Given the description of an element on the screen output the (x, y) to click on. 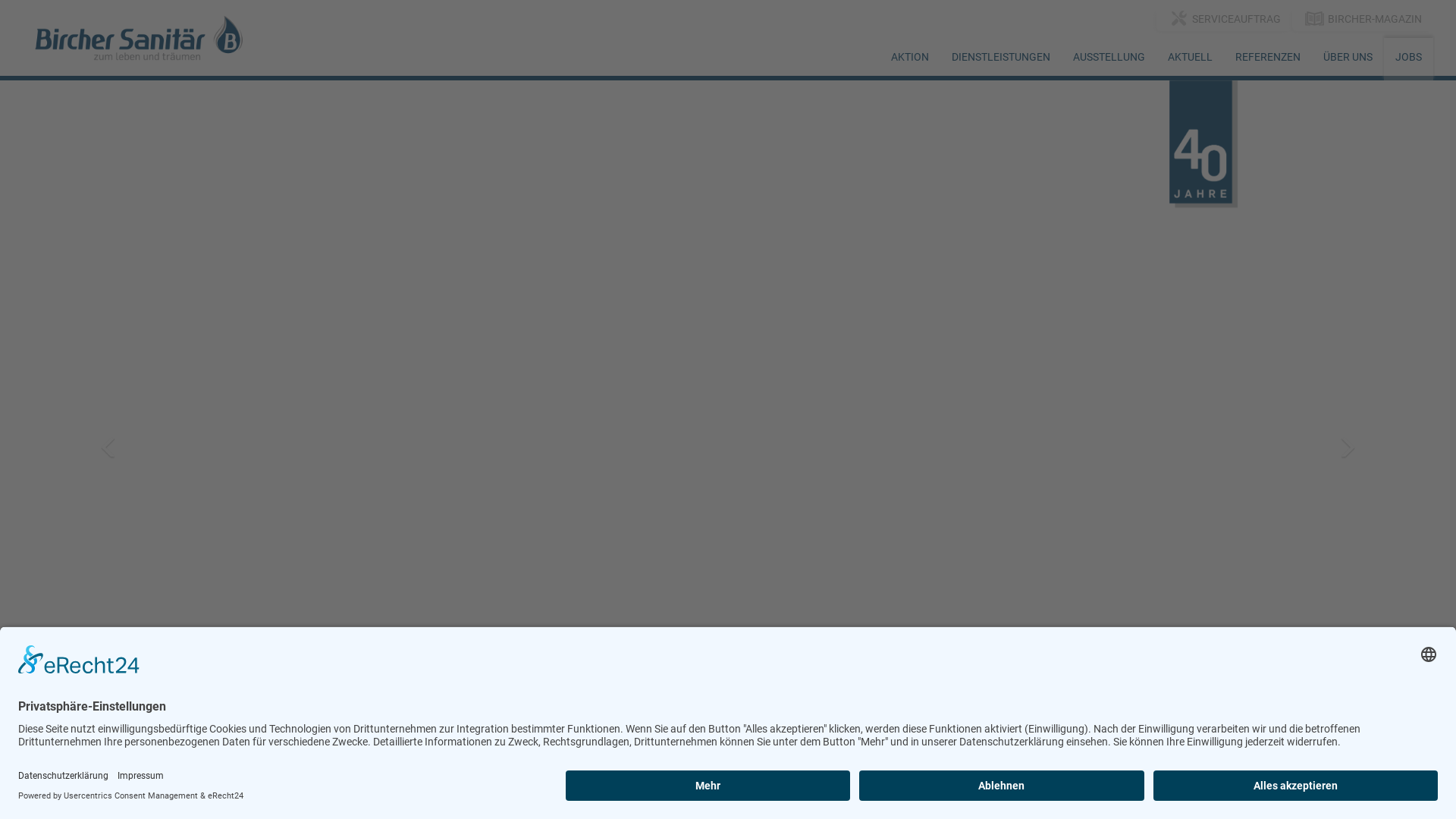
Previous Element type: text (109, 447)
AUSSTELLUNG Element type: text (1108, 56)
BIRCHER-MAGAZIN Element type: hover (1314, 18)
BIRCHER-MAGAZIN Element type: text (1362, 19)
REFERENZEN Element type: text (1267, 56)
AKTION Element type: text (909, 56)
DIENSTLEISTUNGEN Element type: text (1000, 56)
SERVICEAUFTRAG Element type: text (1224, 19)
AKTUELL Element type: text (1189, 56)
JOBS Element type: text (1408, 58)
